Given the description of an element on the screen output the (x, y) to click on. 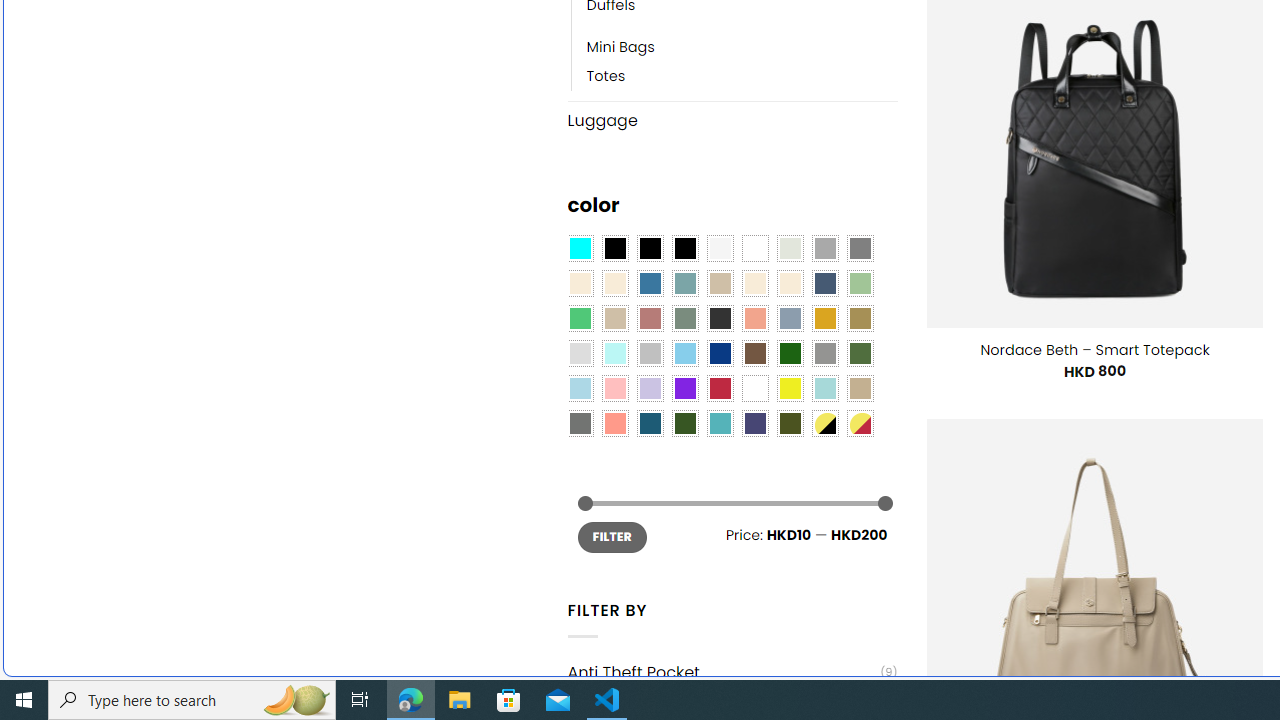
Green (859, 354)
FILTER (612, 536)
Pink (614, 388)
Dark Green (789, 354)
Yellow-Red (859, 424)
Black (650, 249)
Luggage (732, 119)
Blue Sage (684, 283)
Sky Blue (684, 354)
Gold (824, 318)
Caramel (755, 283)
Clear (755, 249)
Beige-Brown (614, 283)
Coral (755, 318)
